Given the description of an element on the screen output the (x, y) to click on. 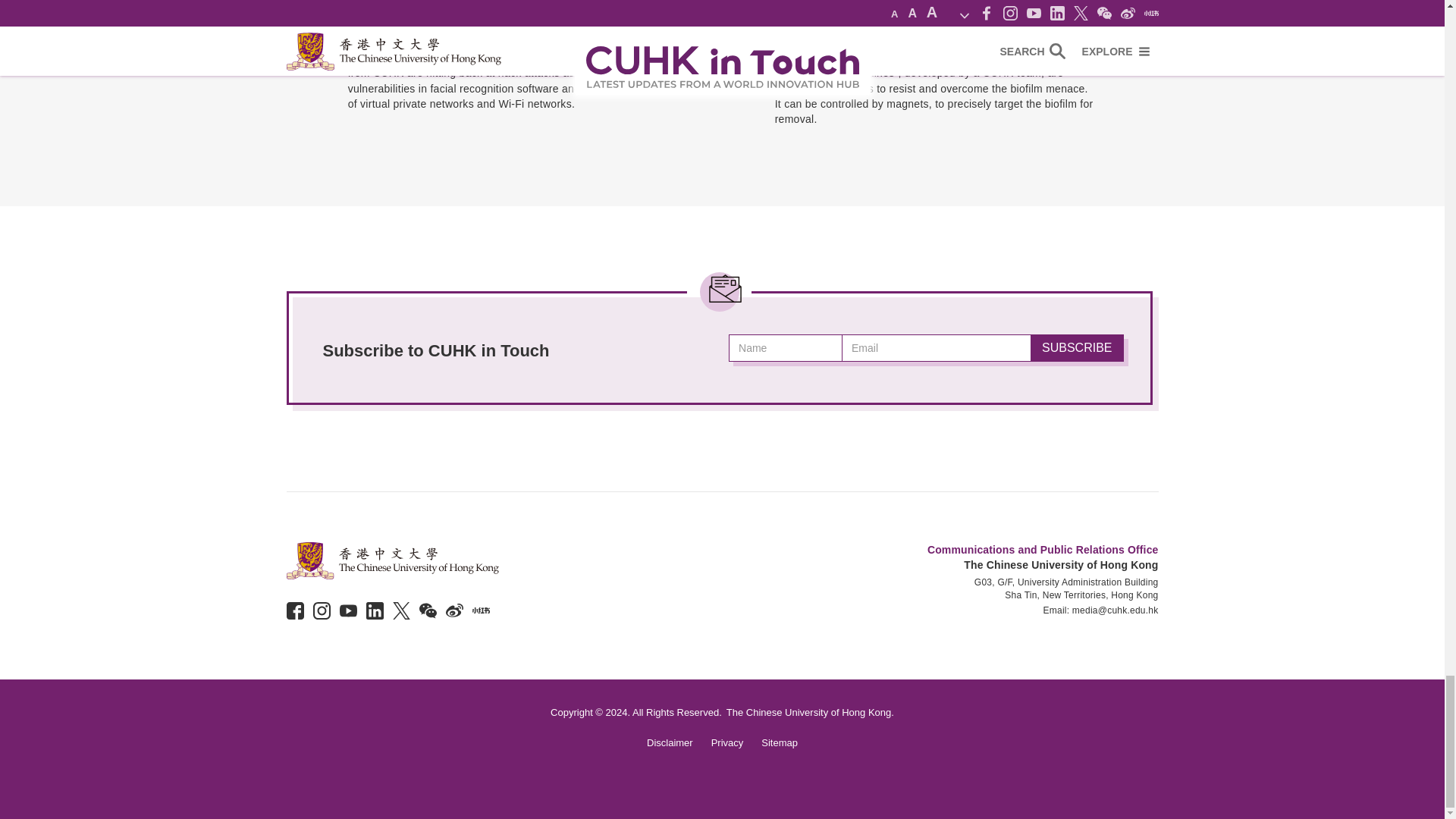
SUBSCRIBE (1076, 347)
